Given the description of an element on the screen output the (x, y) to click on. 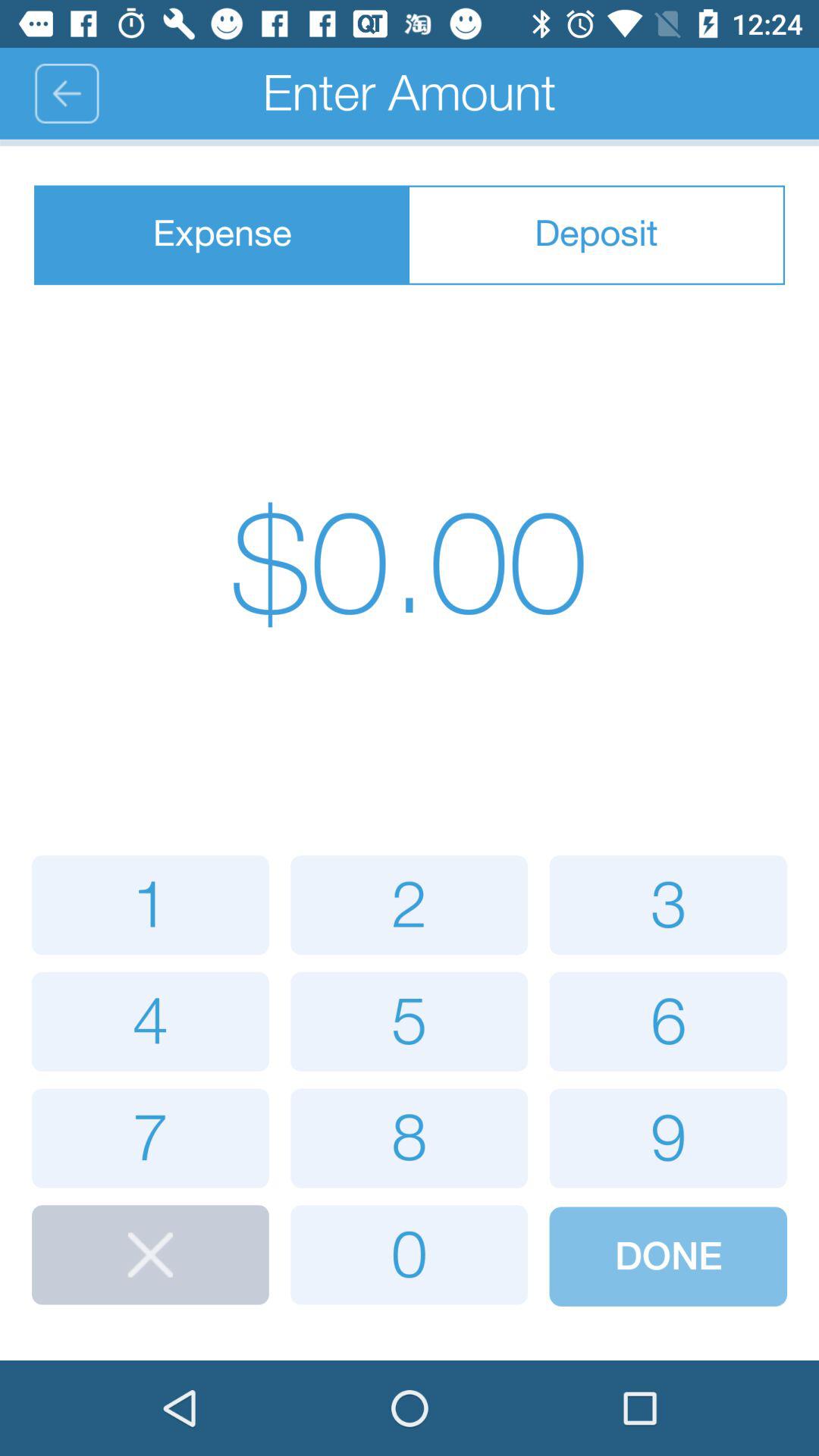
click on button with 9 (668, 1138)
click on 5 number below enter amount (408, 1021)
